Given the description of an element on the screen output the (x, y) to click on. 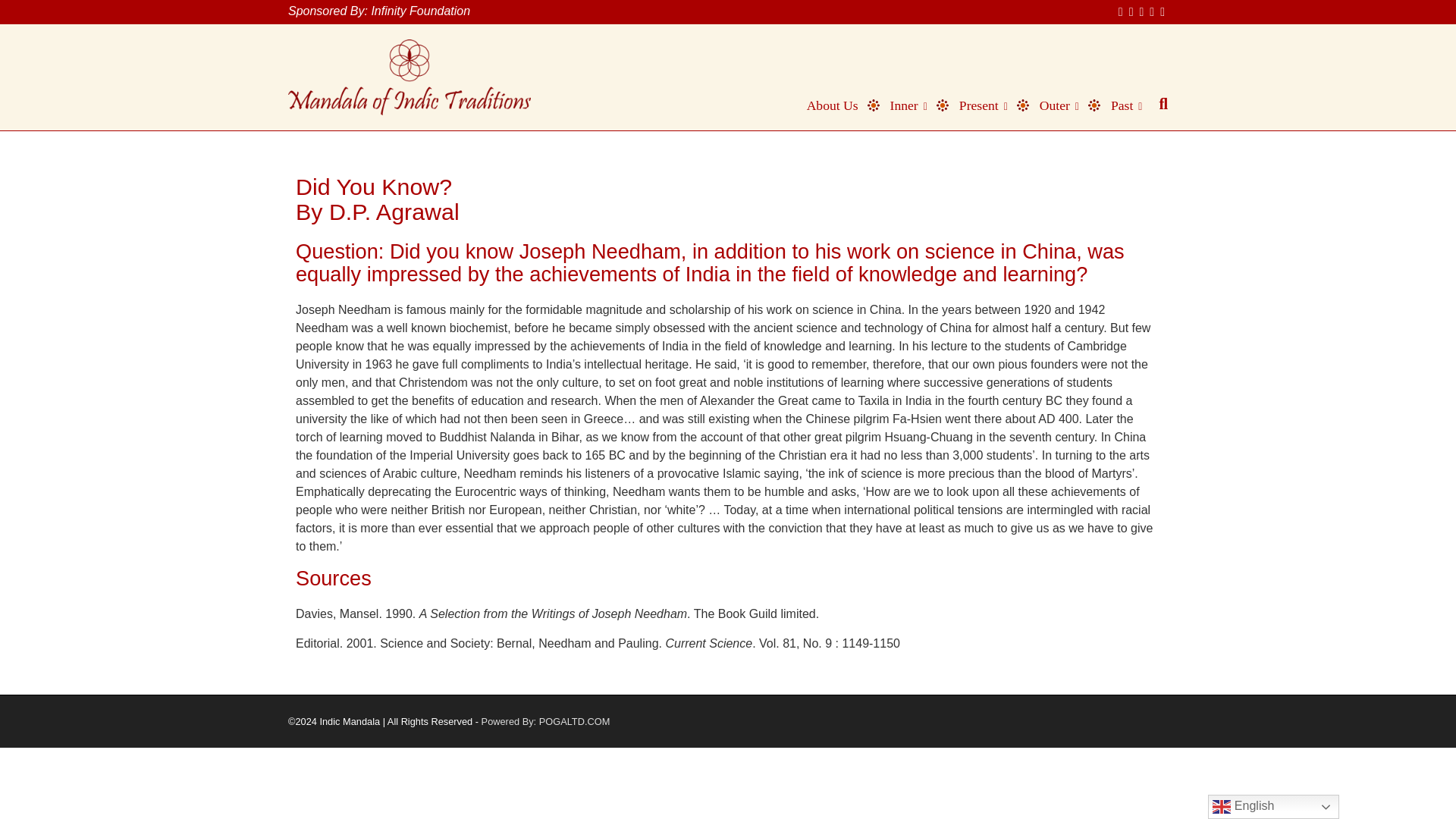
Past (1119, 104)
Indic Mandala (409, 77)
About Us (825, 104)
Outer (1051, 104)
Powered By: POGALTD.COM (545, 721)
Present (976, 104)
Inner (901, 104)
